Given the description of an element on the screen output the (x, y) to click on. 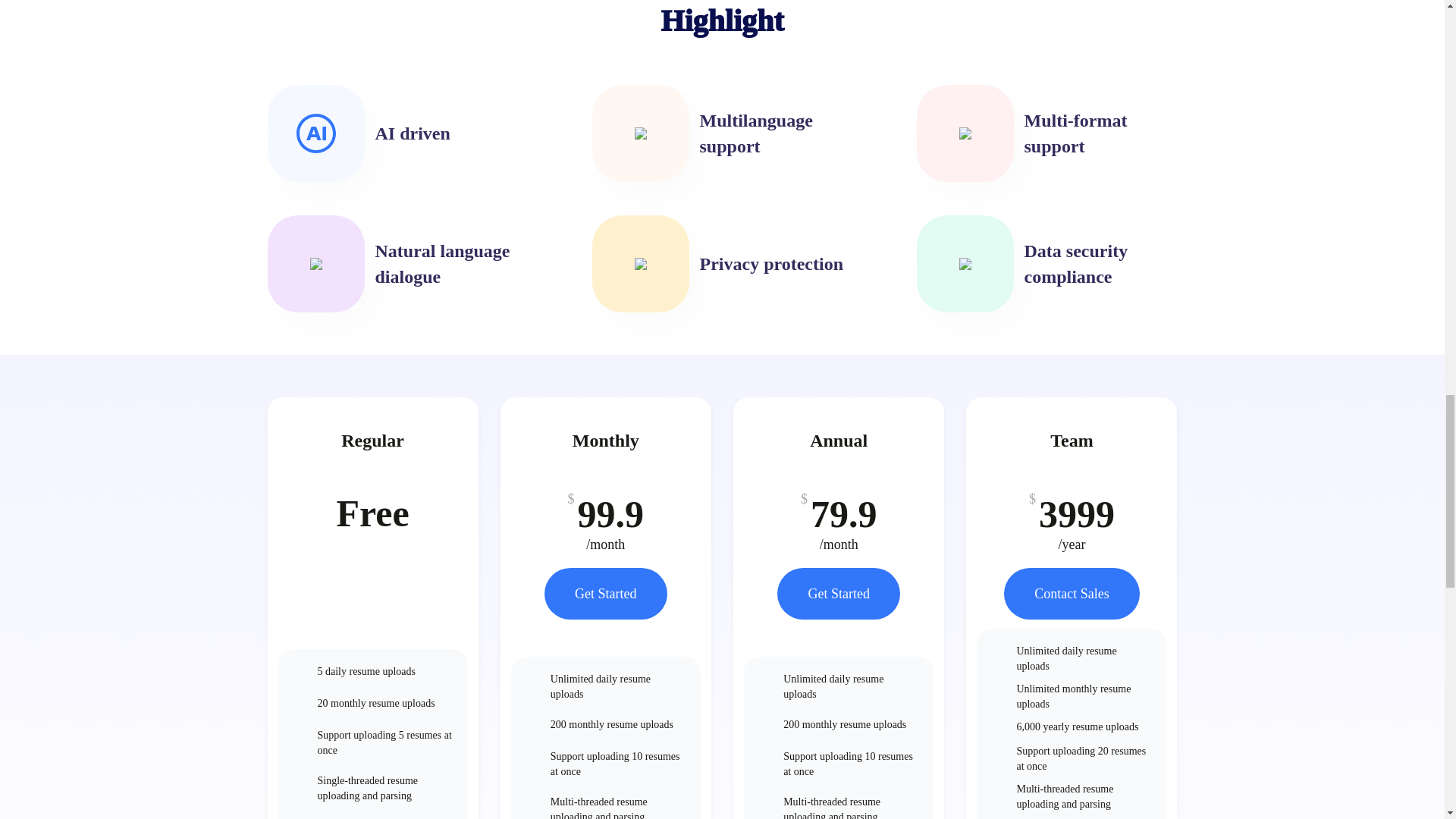
Get Started (605, 593)
Contact Sales (1071, 593)
Get Started (838, 593)
